Given the description of an element on the screen output the (x, y) to click on. 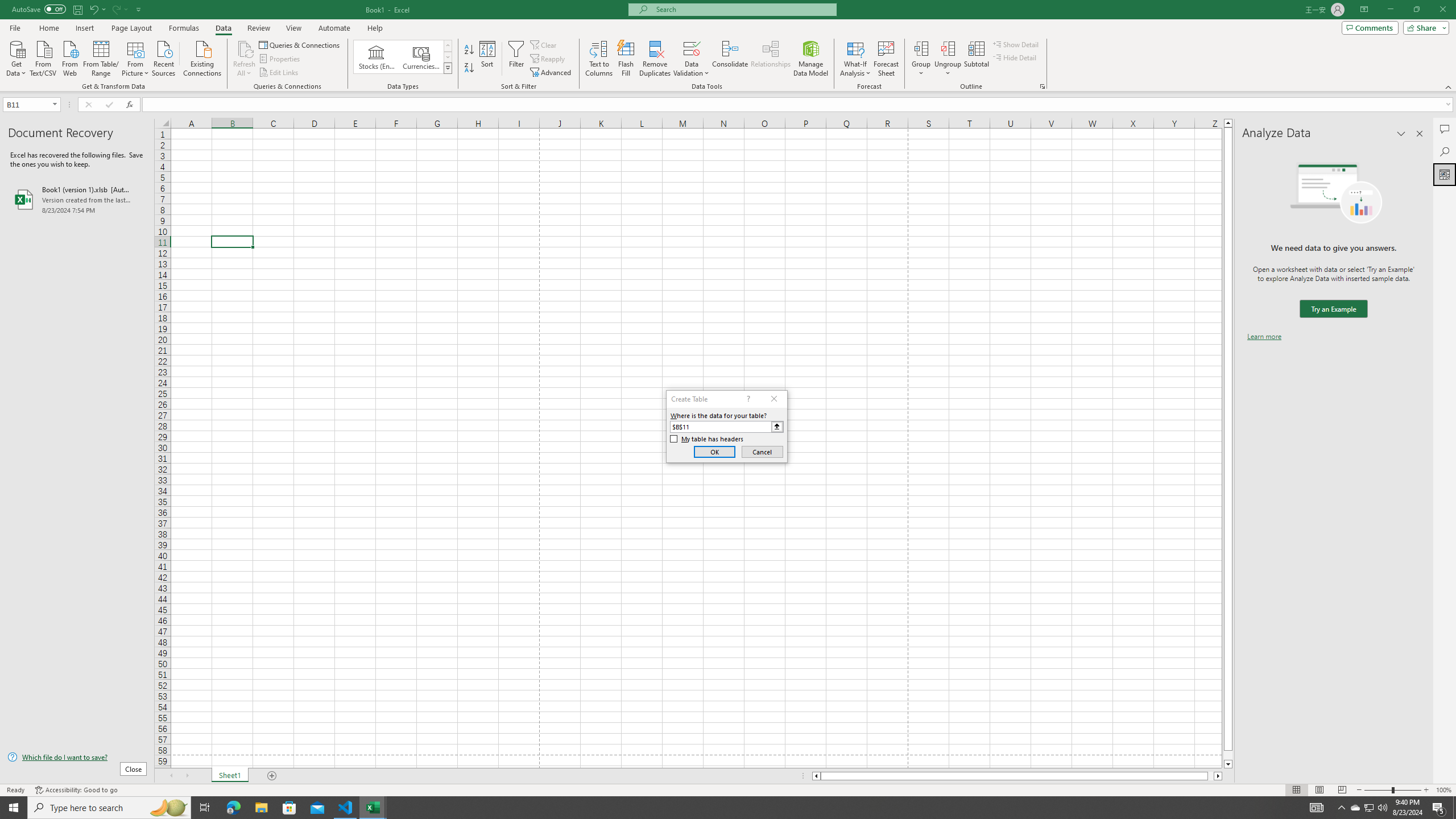
Consolidate... (729, 58)
